Given the description of an element on the screen output the (x, y) to click on. 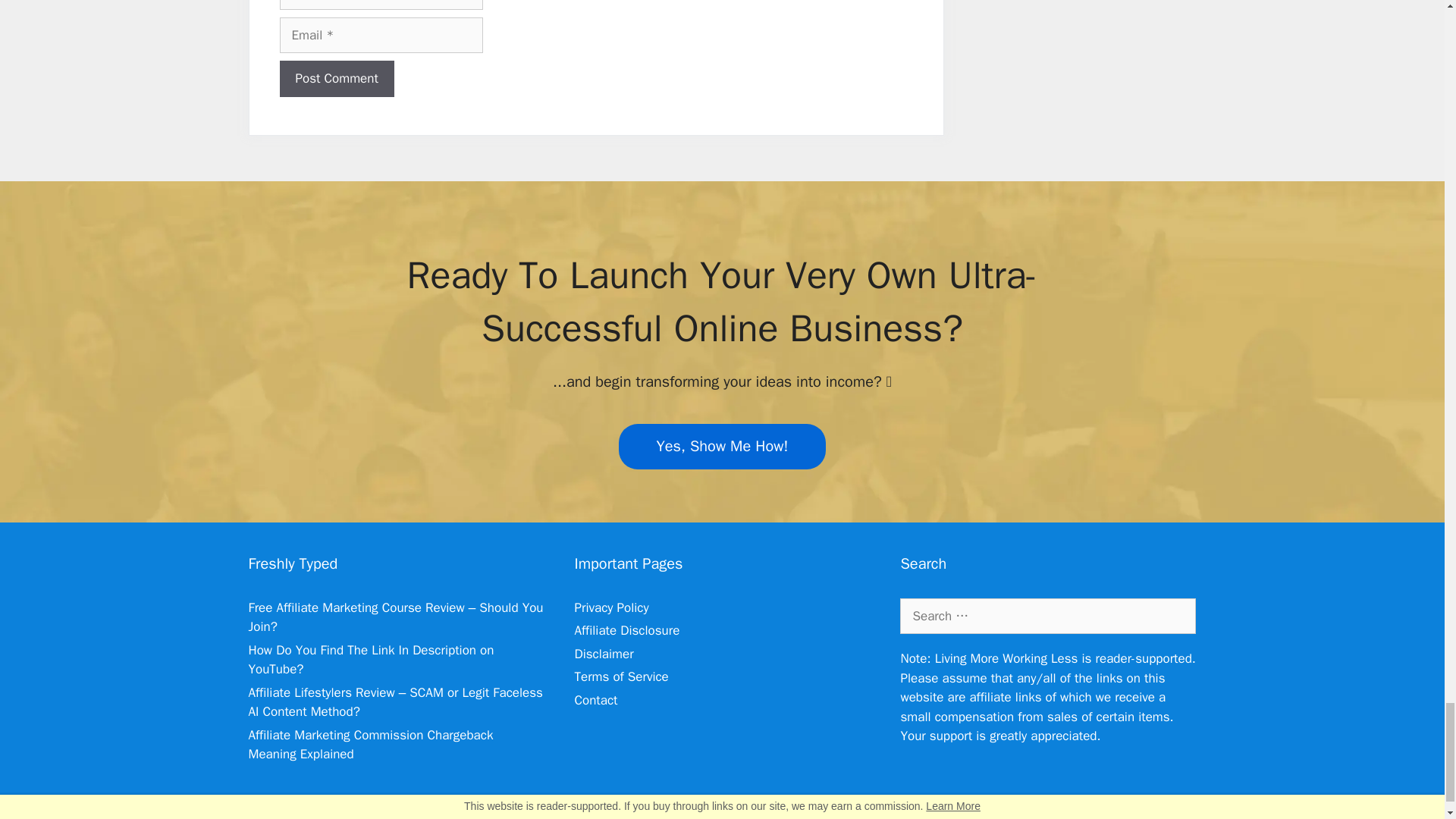
Search for: (1047, 616)
Post Comment (336, 78)
